Given the description of an element on the screen output the (x, y) to click on. 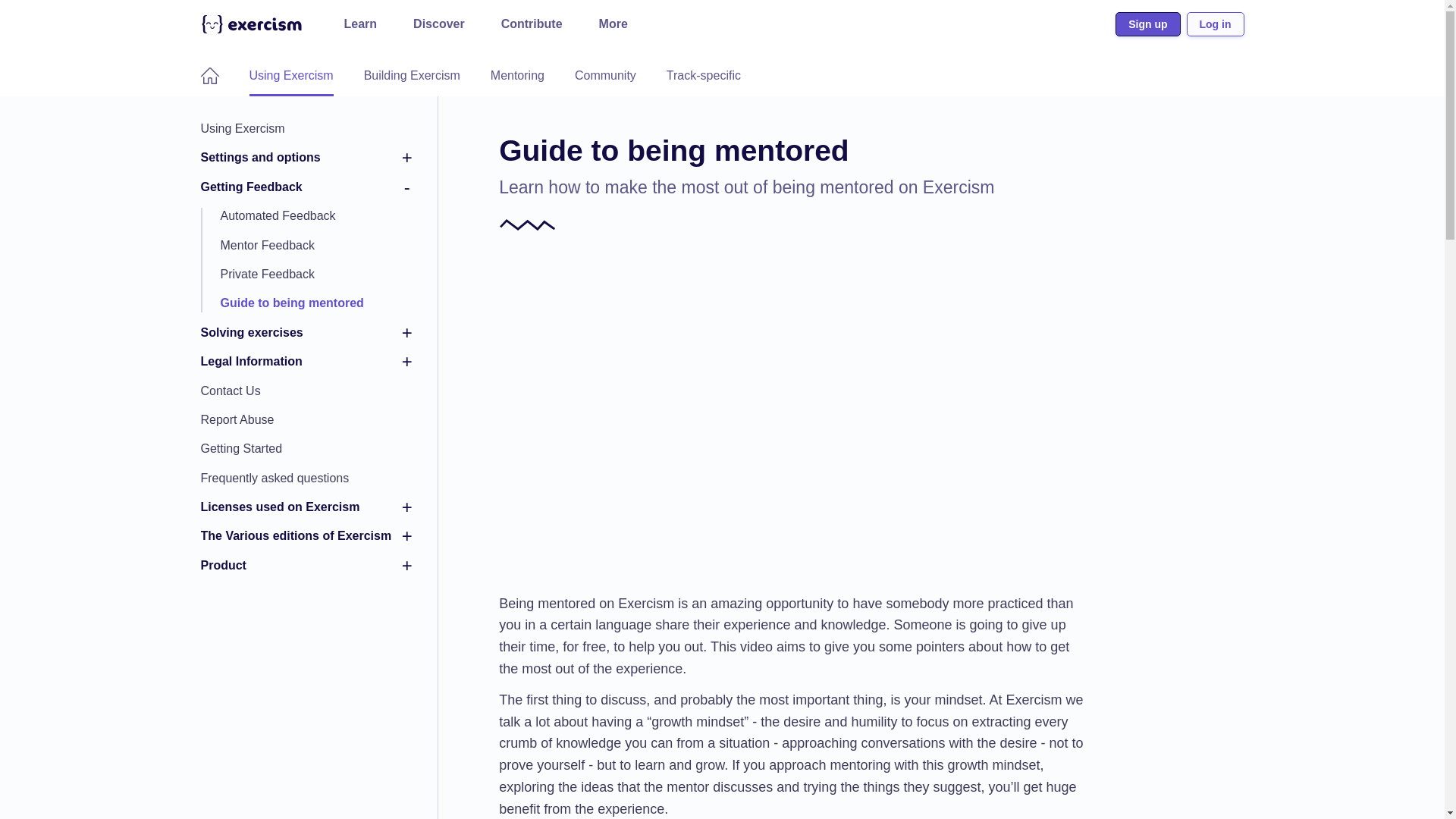
Using Exercism (290, 75)
Sign up (1147, 24)
Learn (361, 24)
Contribute (531, 24)
Private Feedback (316, 274)
Mentor Feedback (316, 245)
Using Exercism (306, 128)
Legal Information (306, 361)
Automated Feedback (316, 216)
Track-specific (703, 75)
Solving exercises (306, 332)
Guide to being mentored (316, 303)
Getting Feedback (306, 187)
Mentoring (517, 75)
